Given the description of an element on the screen output the (x, y) to click on. 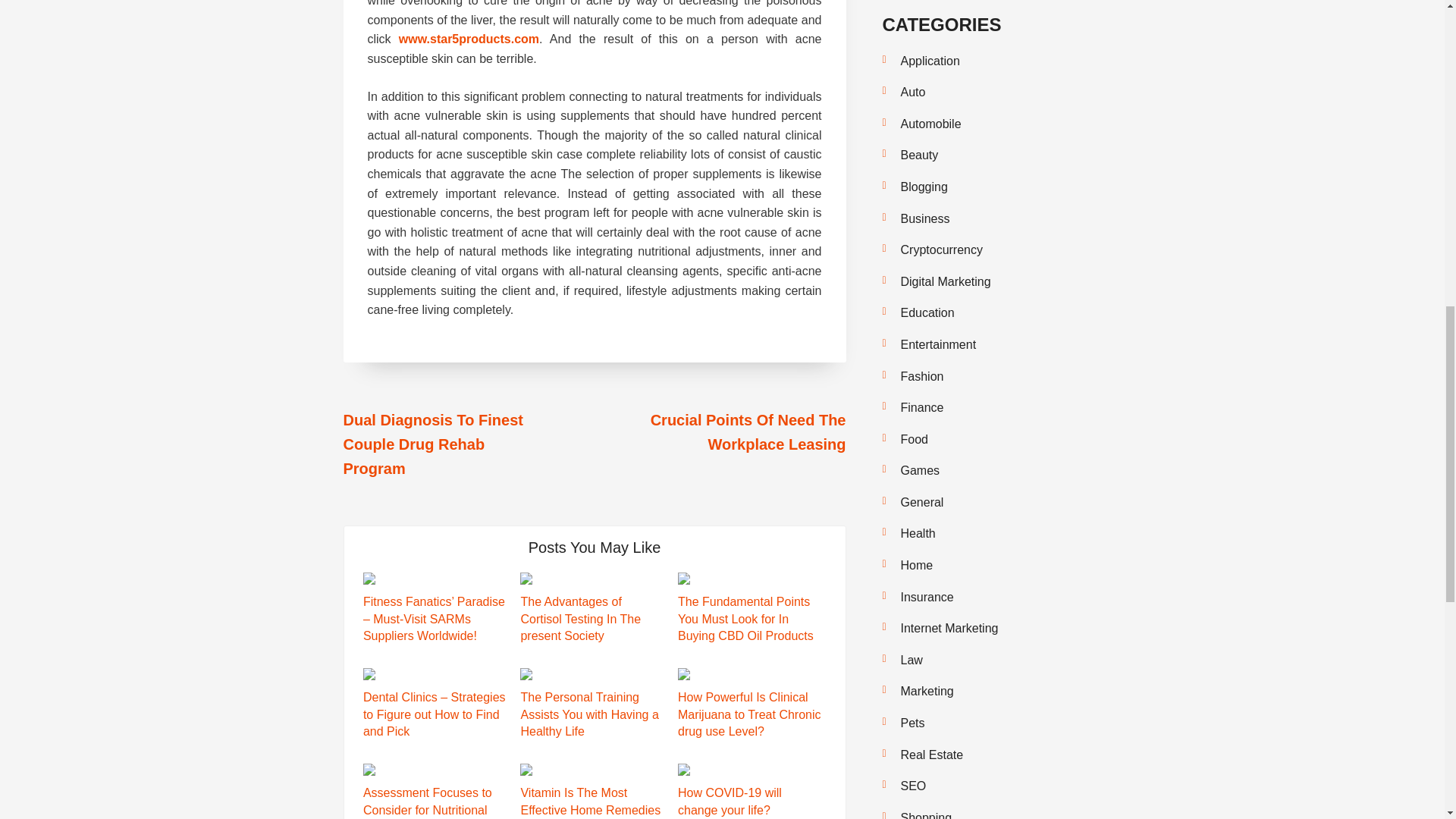
Dual Diagnosis To Finest Couple Drug Rehab Program (432, 443)
How COVID-19 will change your life? (729, 800)
The Personal Training Assists You with Having a Healthy Life (588, 714)
www.star5products.com (468, 38)
Vitamin Is The Most Effective Home Remedies for Hair Growth? (590, 802)
The Advantages of Cortisol Testing In The present Society (579, 618)
Assessment Focuses to Consider for Nutritional Supplements (427, 802)
Crucial Points Of Need The Workplace Leasing (747, 431)
